Given the description of an element on the screen output the (x, y) to click on. 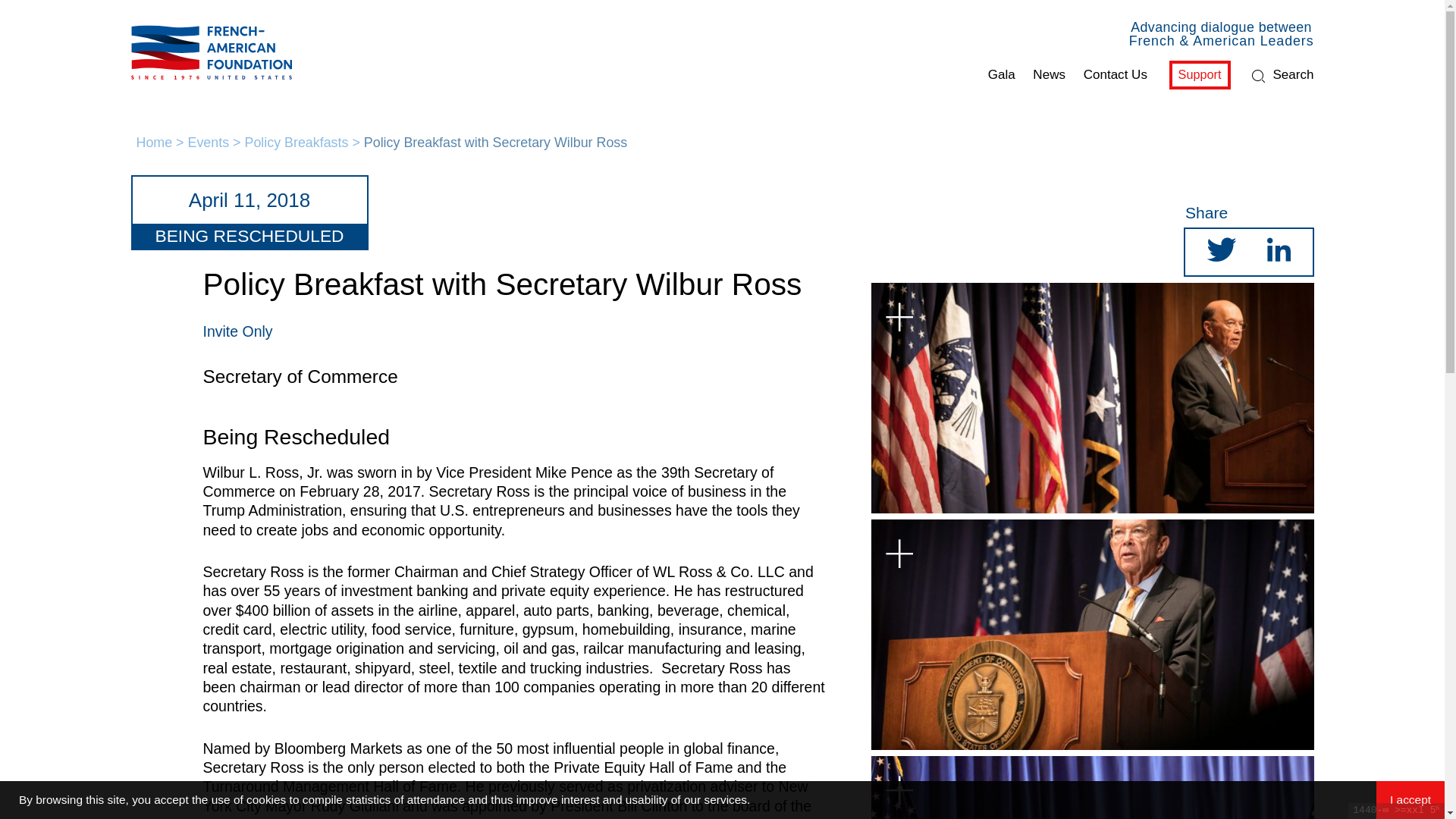
Share on Twitter (1221, 254)
News (1049, 75)
Support (1199, 74)
Gala (1001, 75)
Share on LinkedIn (1278, 254)
Contact Us (1114, 75)
Back to homepage (207, 52)
